Given the description of an element on the screen output the (x, y) to click on. 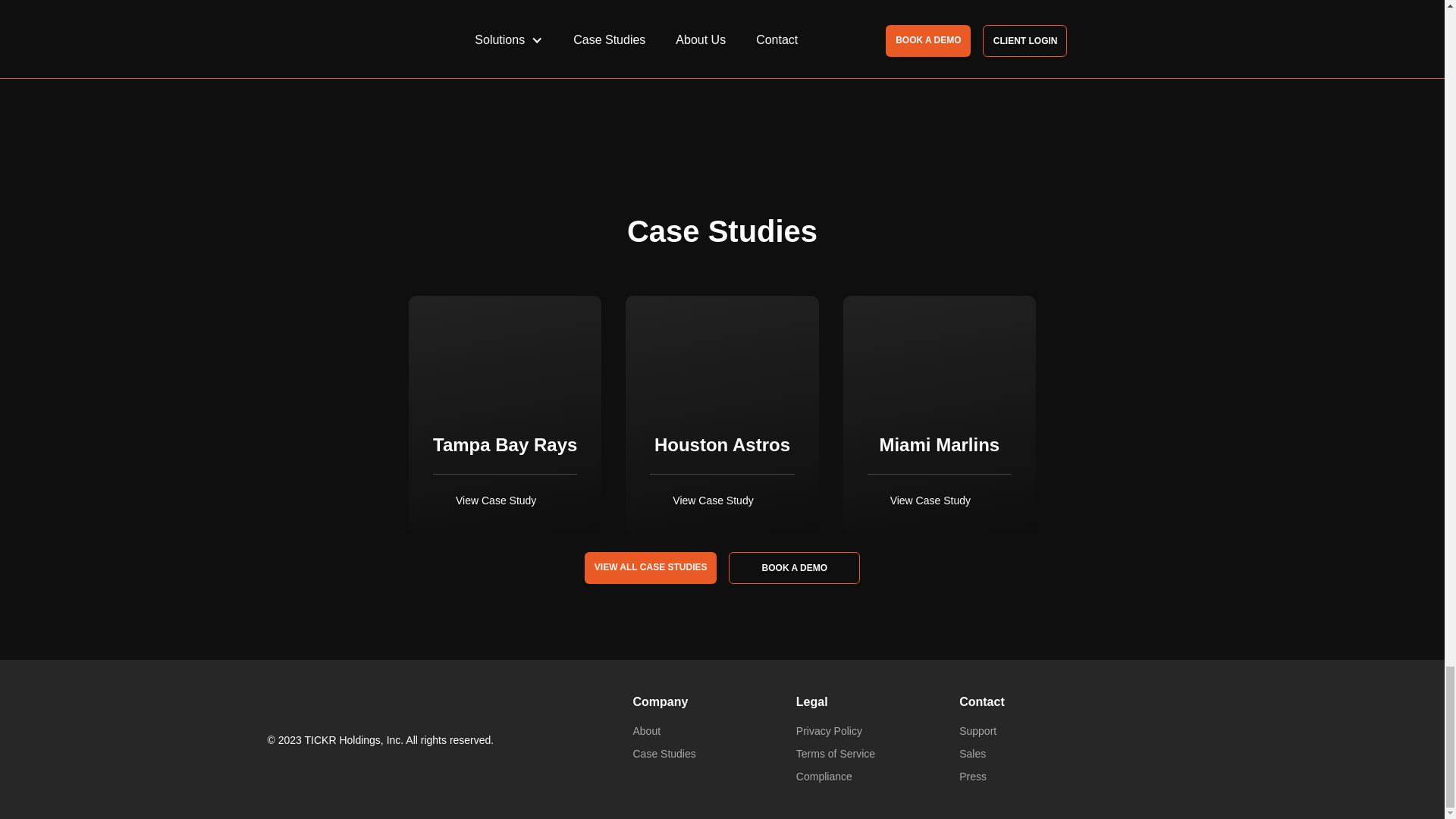
About (646, 731)
Sales (972, 754)
Case Studies (663, 754)
BOOK A DEMO (794, 567)
Privacy Policy (828, 731)
Press (973, 777)
Support (977, 731)
Compliance (823, 777)
VIEW ALL CASE STUDIES (650, 567)
Terms of Service (835, 754)
